Given the description of an element on the screen output the (x, y) to click on. 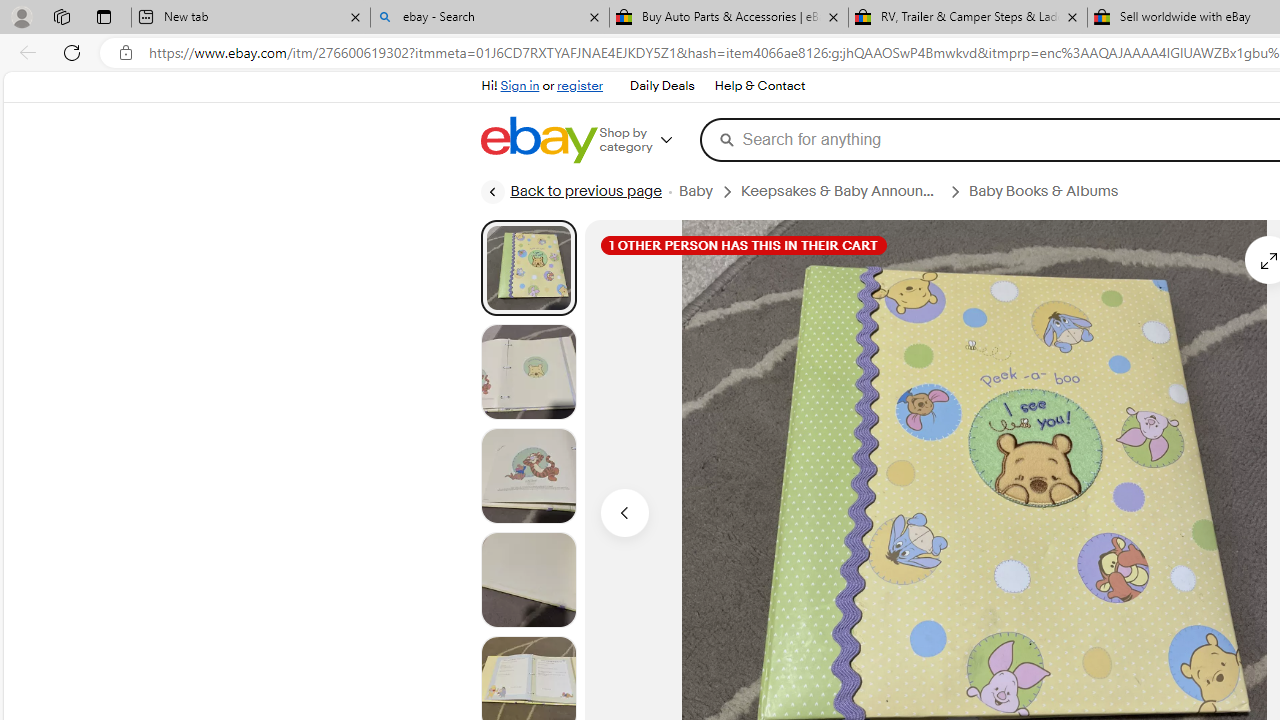
Buy Auto Parts & Accessories | eBay (729, 17)
